Given the description of an element on the screen output the (x, y) to click on. 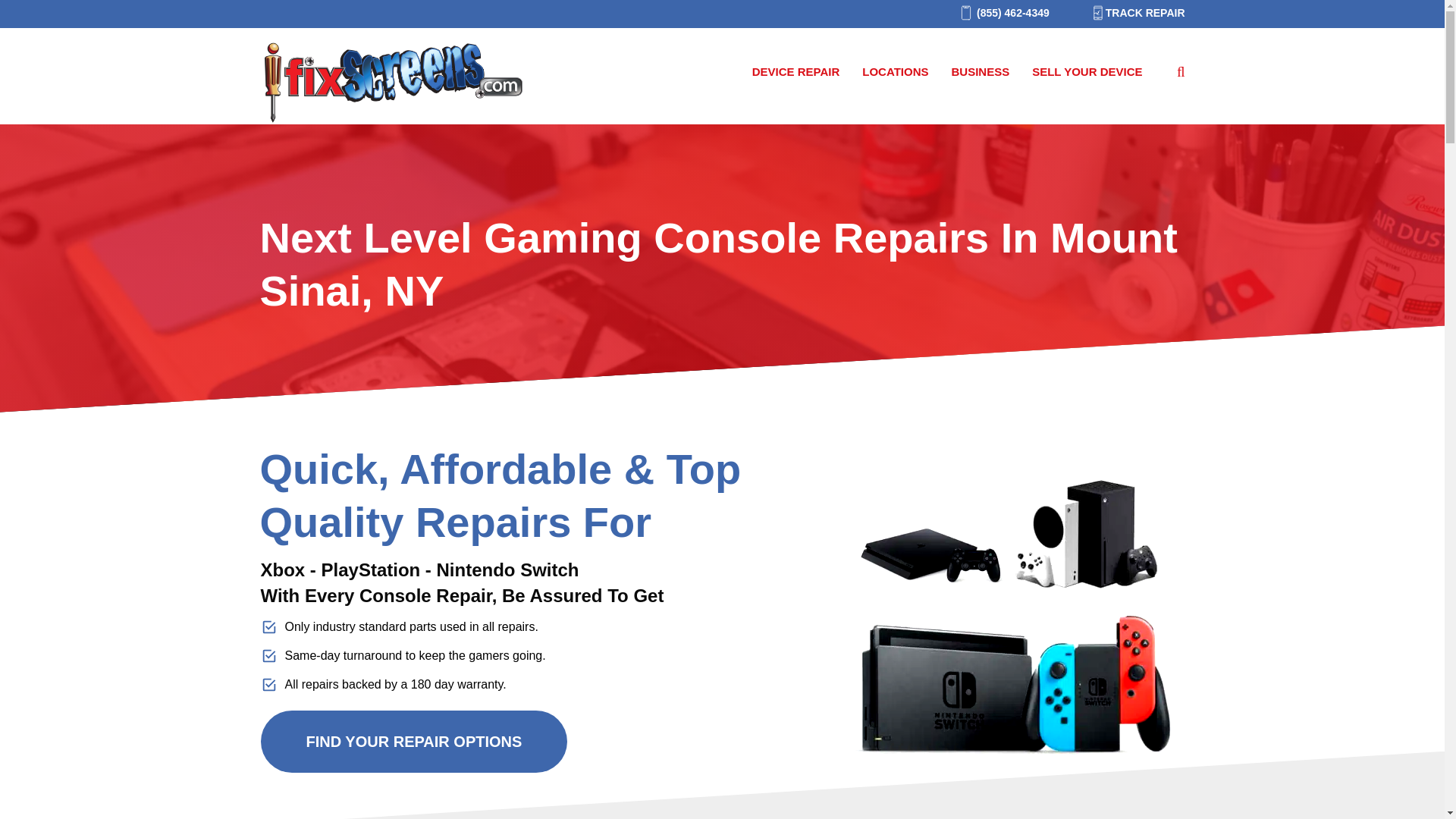
BUSINESS (979, 71)
Search (34, 15)
TRACK REPAIR (1131, 13)
Next Level Gaming Console Repair (1011, 629)
SELL YOUR DEVICE (1086, 71)
FIND YOUR REPAIR OPTIONS (413, 741)
DEVICE REPAIR (796, 71)
LOCATIONS (894, 71)
